Given the description of an element on the screen output the (x, y) to click on. 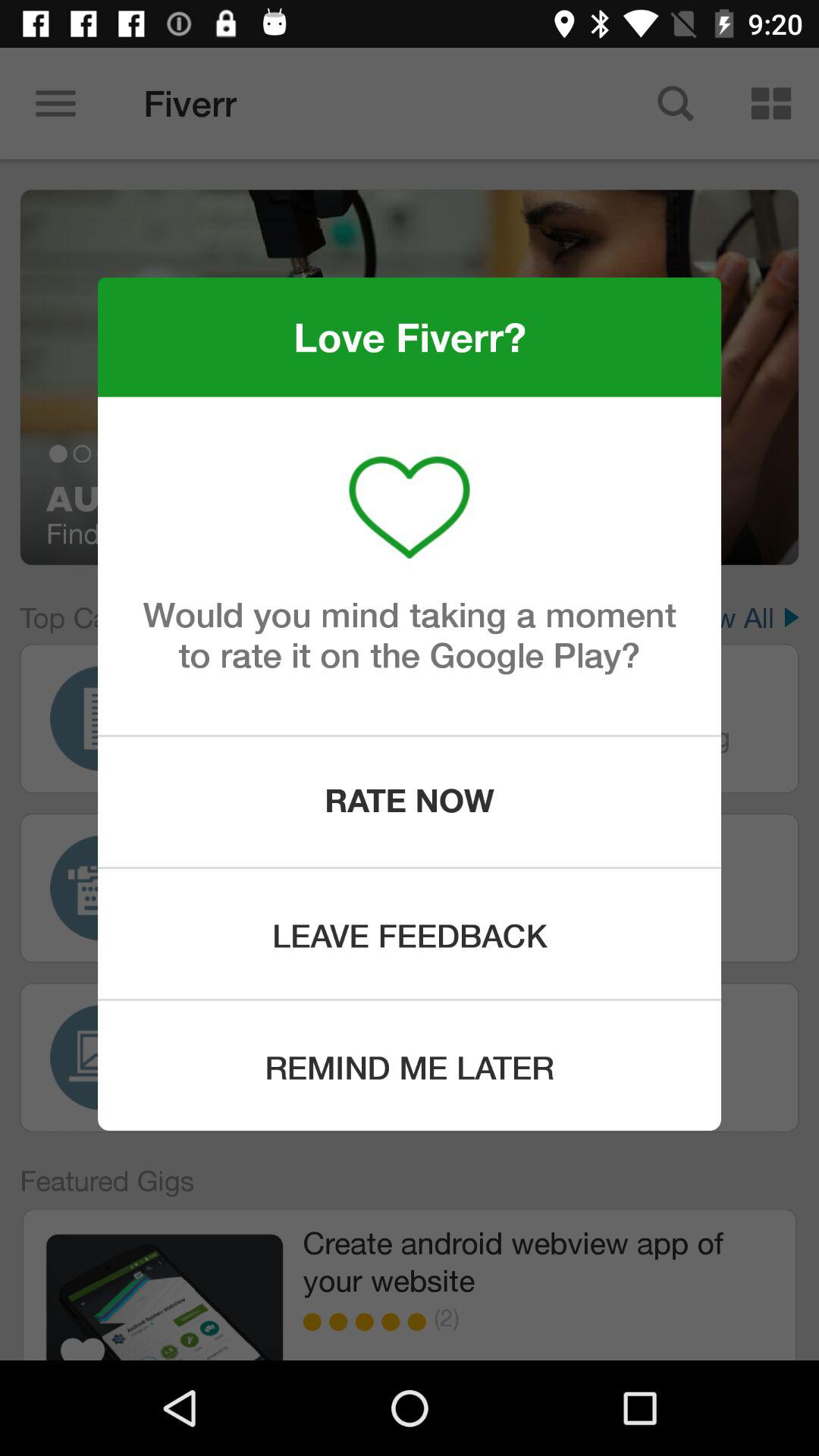
select the leave feedback icon (409, 933)
